Given the description of an element on the screen output the (x, y) to click on. 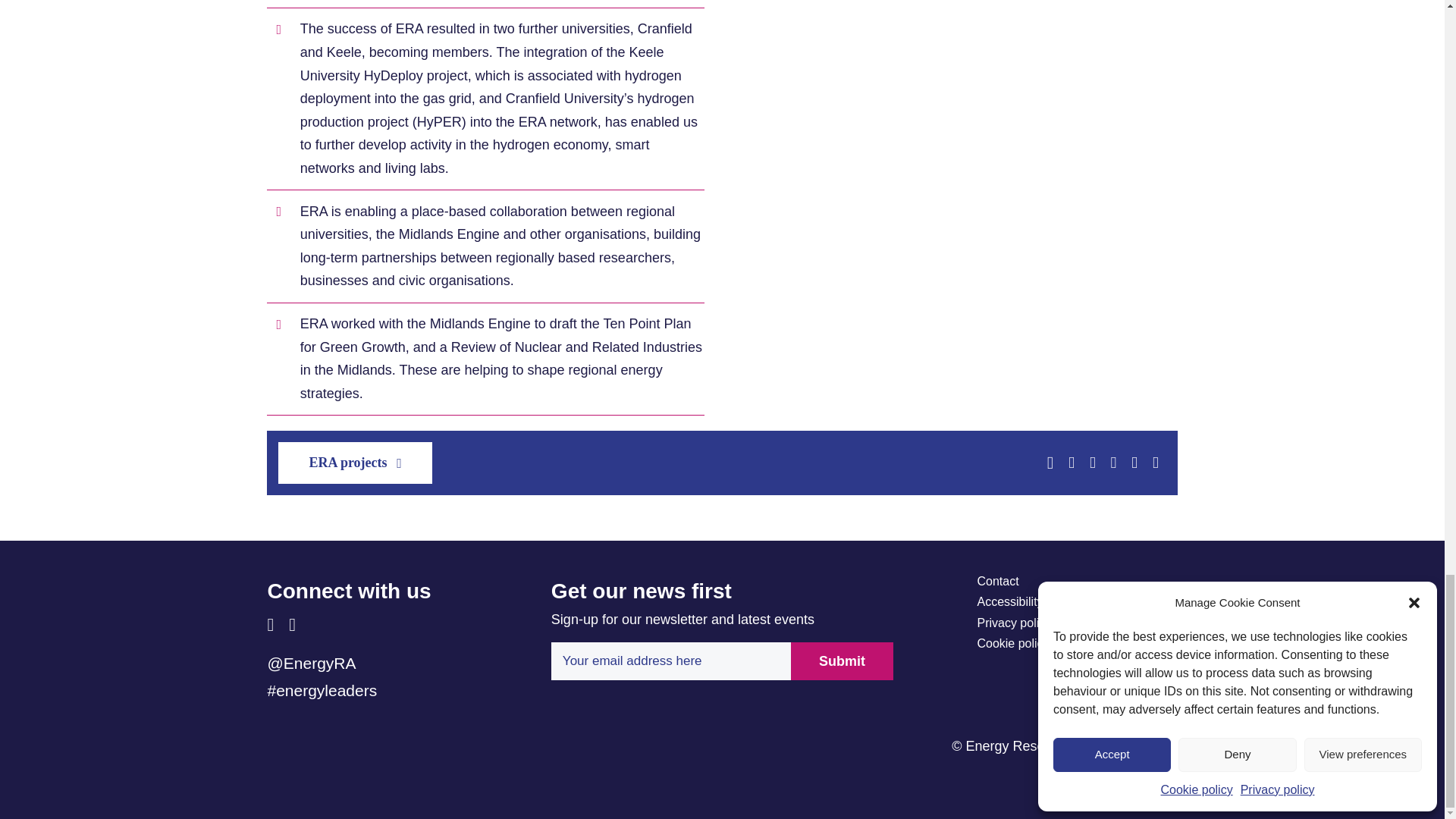
Submit (841, 661)
